Given the description of an element on the screen output the (x, y) to click on. 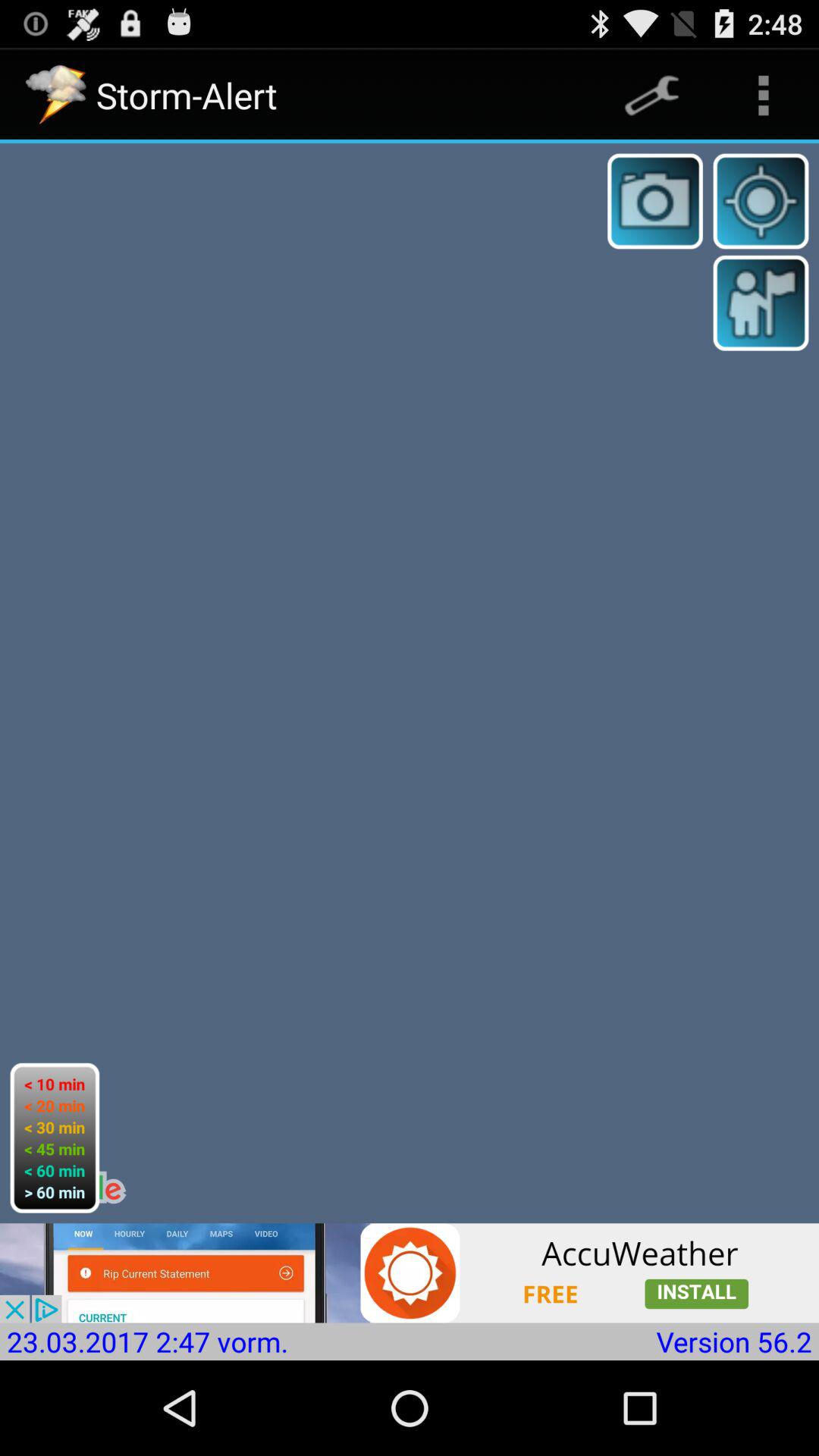
take picture (654, 201)
